Given the description of an element on the screen output the (x, y) to click on. 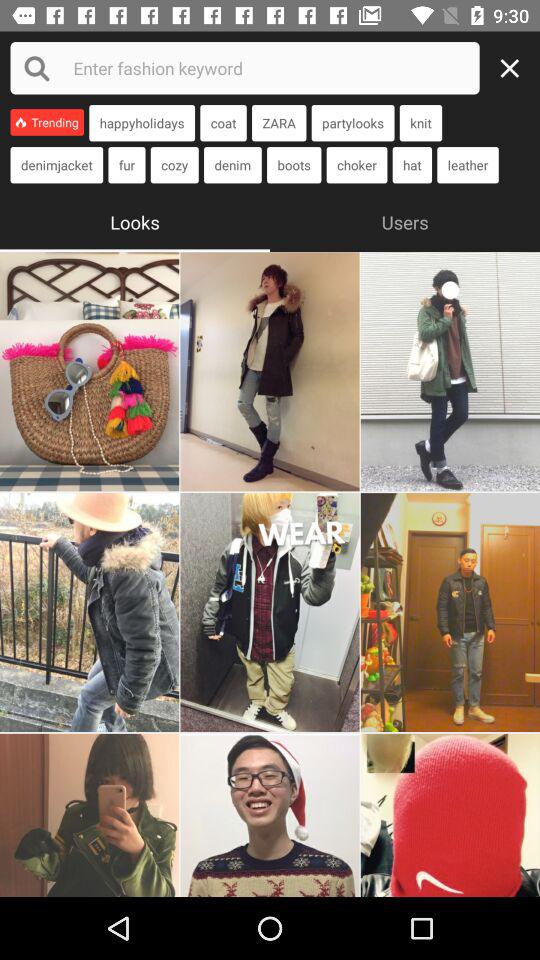
view selected (269, 612)
